Given the description of an element on the screen output the (x, y) to click on. 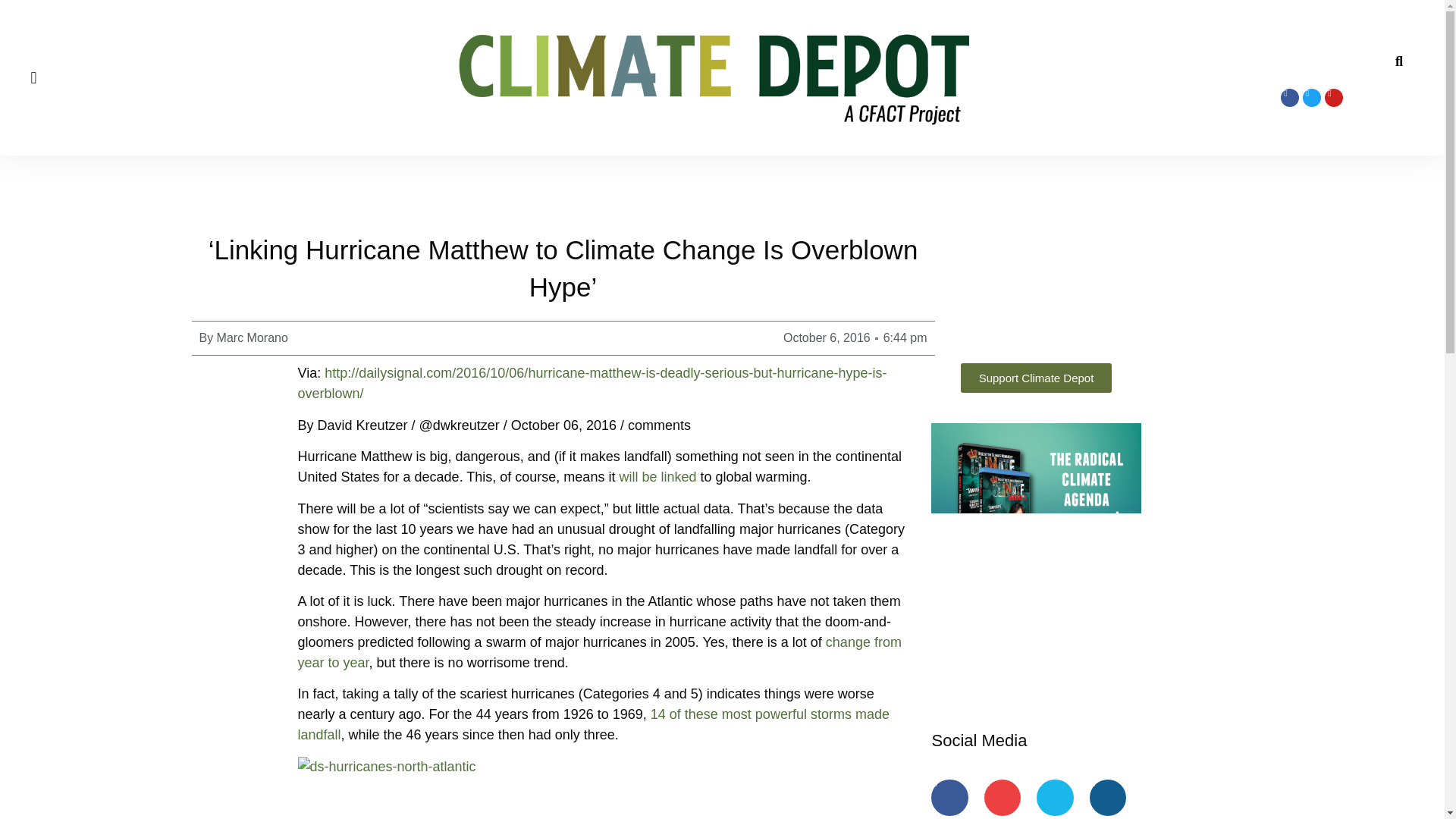
Support Climate Depot (1036, 378)
change from year to year (599, 652)
By Marc Morano (242, 338)
will be linked (656, 476)
14 of these most powerful storms made landfall (592, 724)
October 6, 2016 (826, 338)
